Given the description of an element on the screen output the (x, y) to click on. 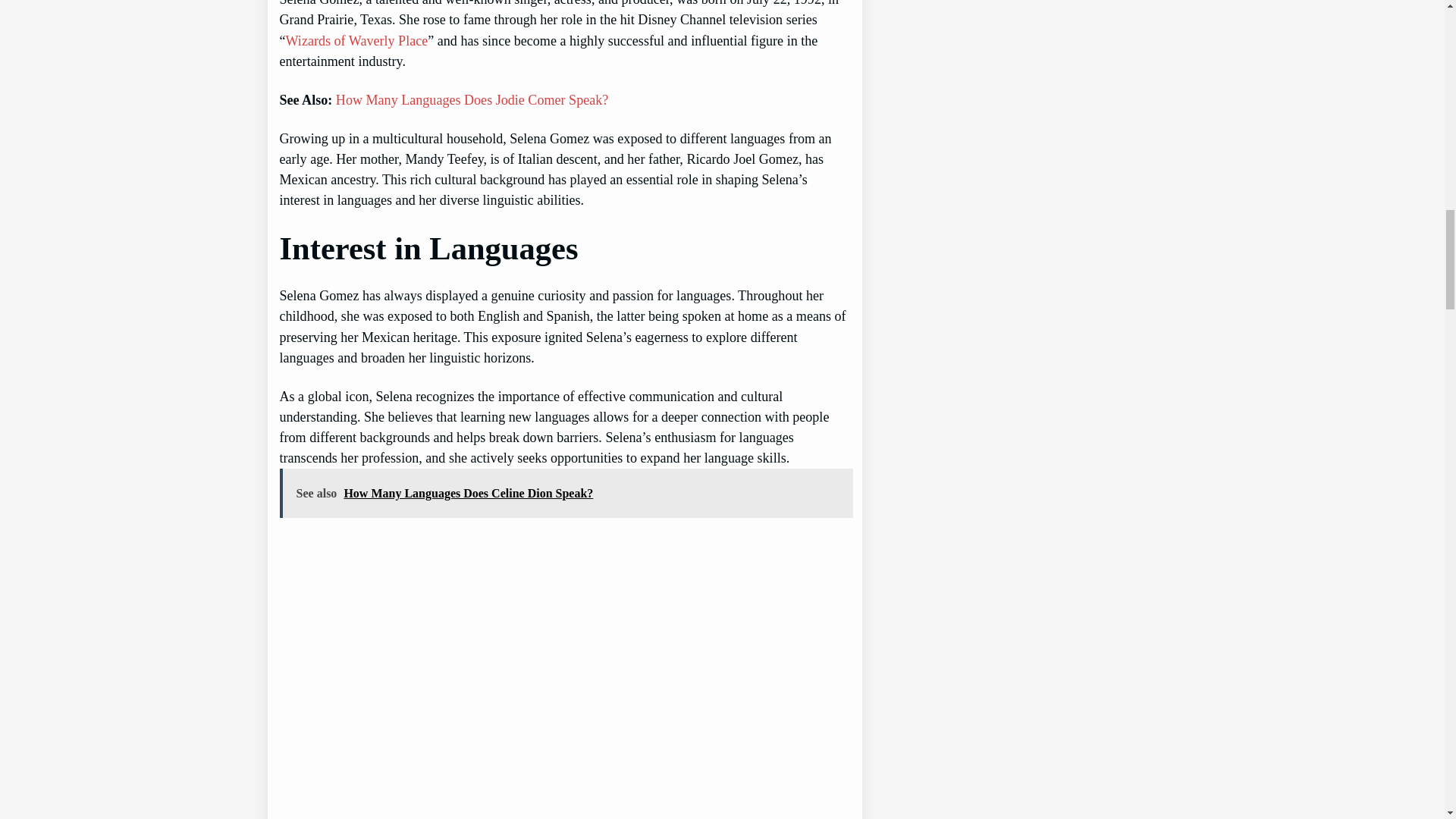
How Many Languages Does Jodie Comer Speak? (472, 99)
See also  How Many Languages Does Celine Dion Speak? (565, 492)
Wizards of Waverly Place (356, 40)
